Given the description of an element on the screen output the (x, y) to click on. 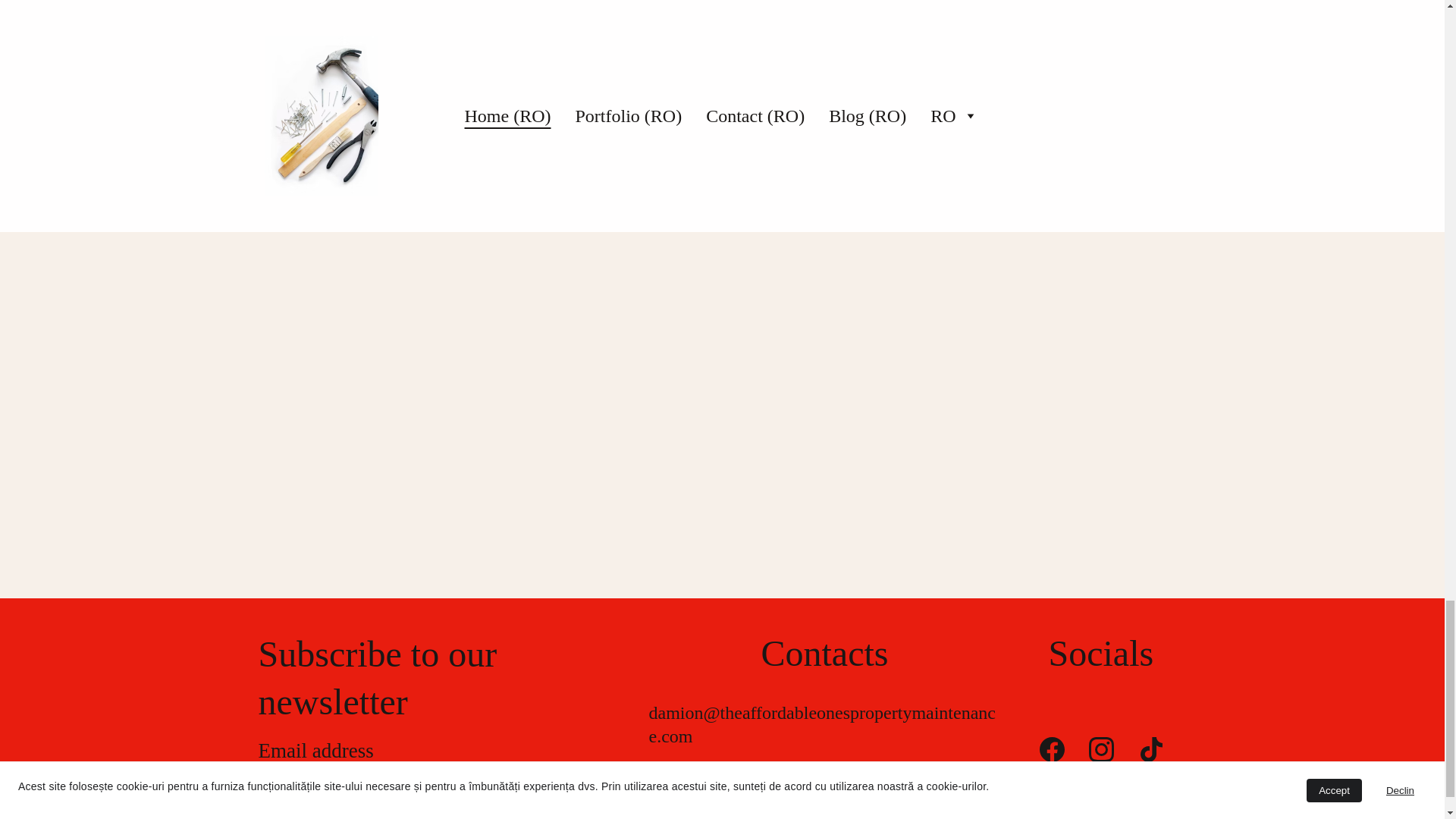
Go to Tiktok page (1150, 749)
Go to Facebook page (1051, 749)
Go to Instagram page (1101, 749)
